Given the description of an element on the screen output the (x, y) to click on. 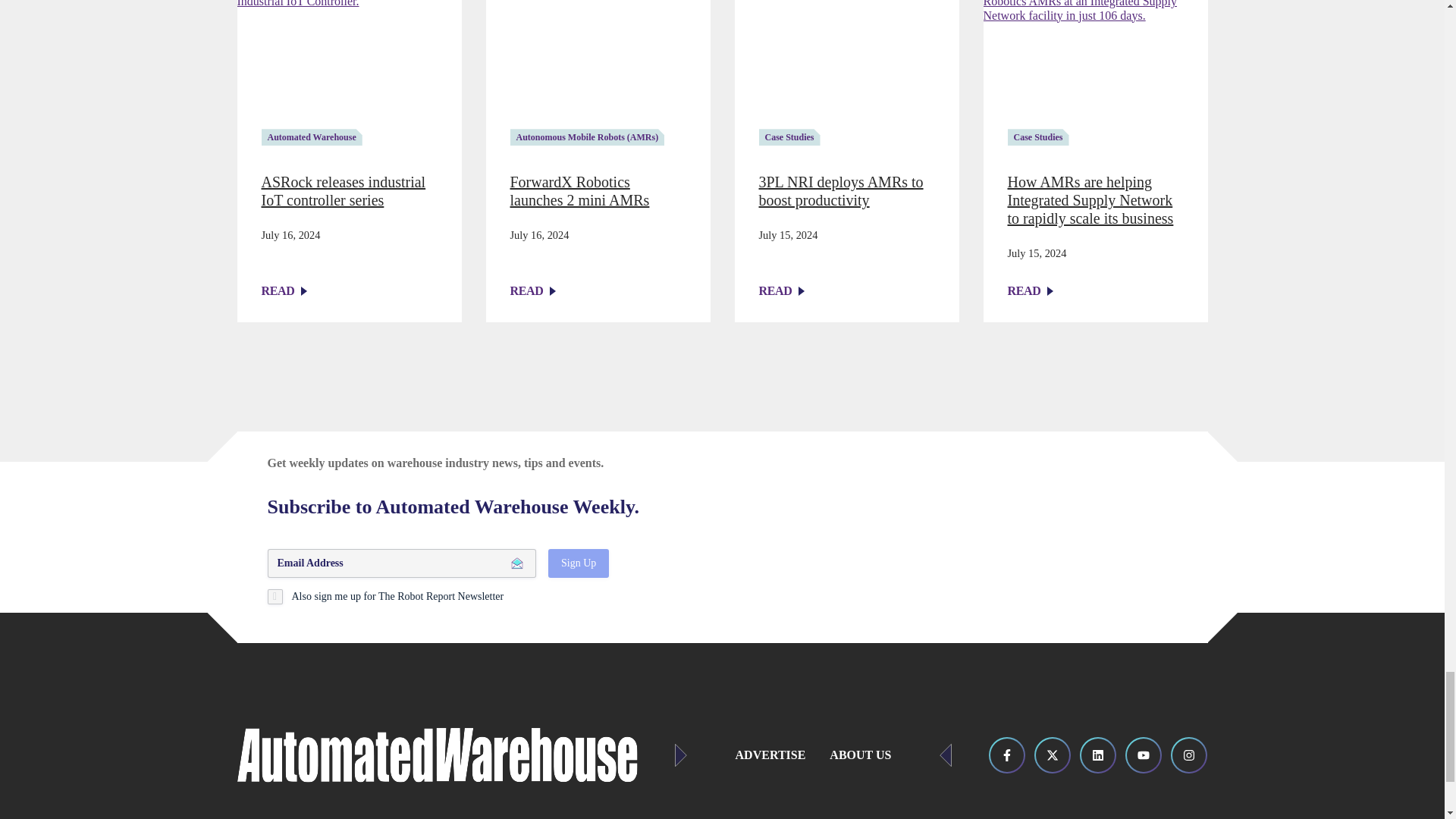
Y (274, 596)
